Given the description of an element on the screen output the (x, y) to click on. 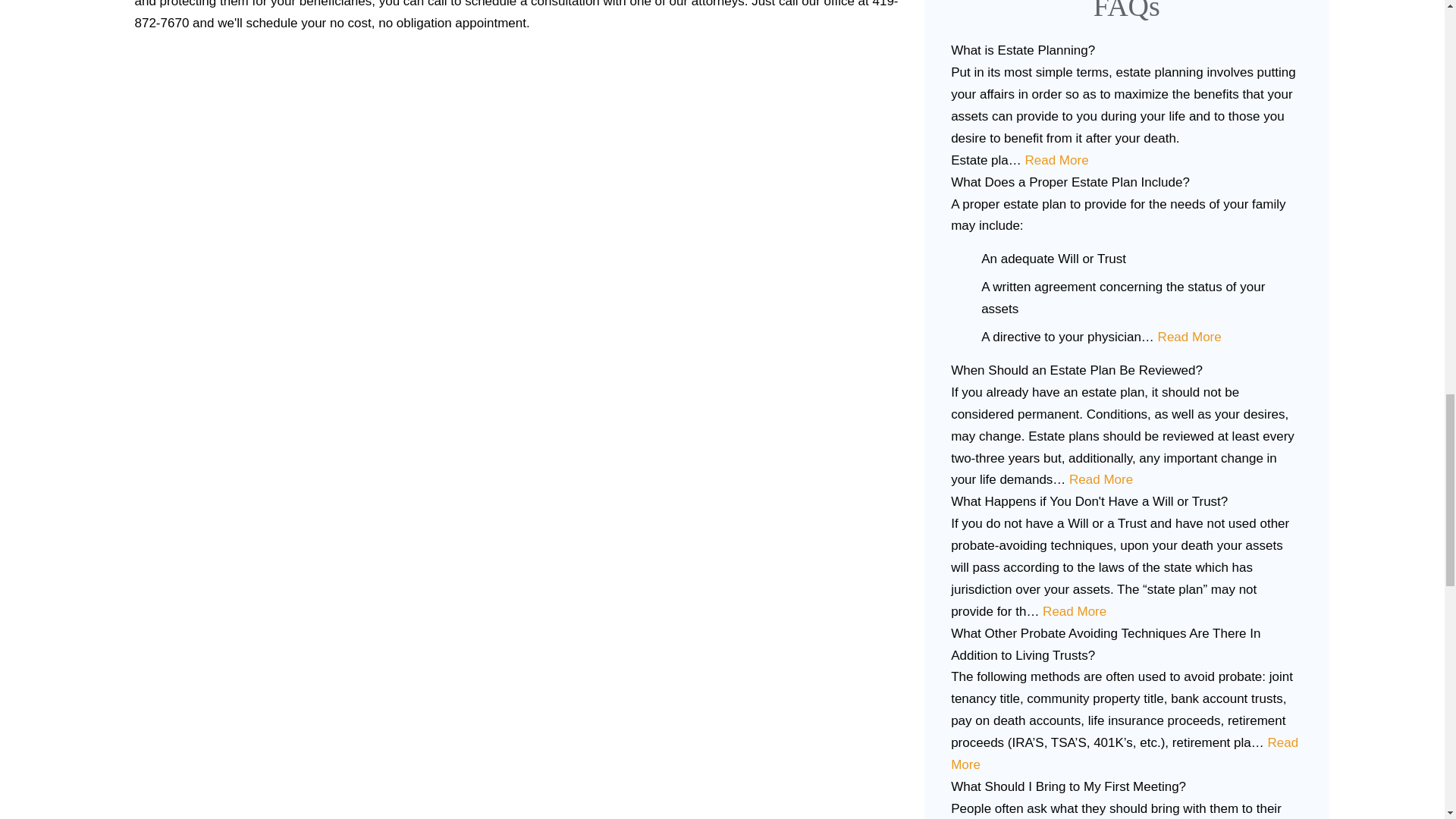
Click for more What Is Estate Planning? information (1056, 160)
